Given the description of an element on the screen output the (x, y) to click on. 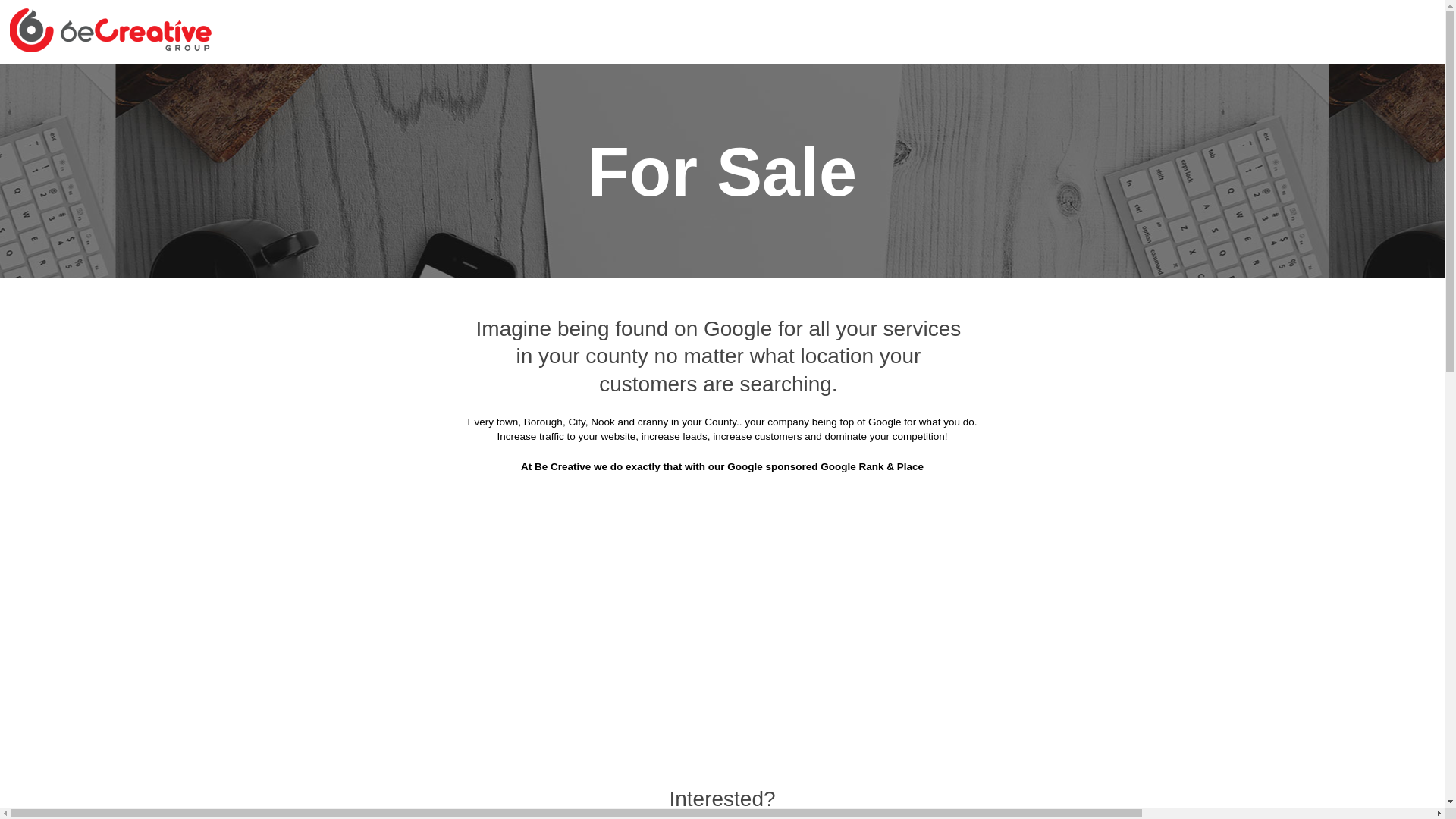
fire extinguisher (955, 321)
FIRE PROTECTION CHESHIRE (609, 52)
